Given the description of an element on the screen output the (x, y) to click on. 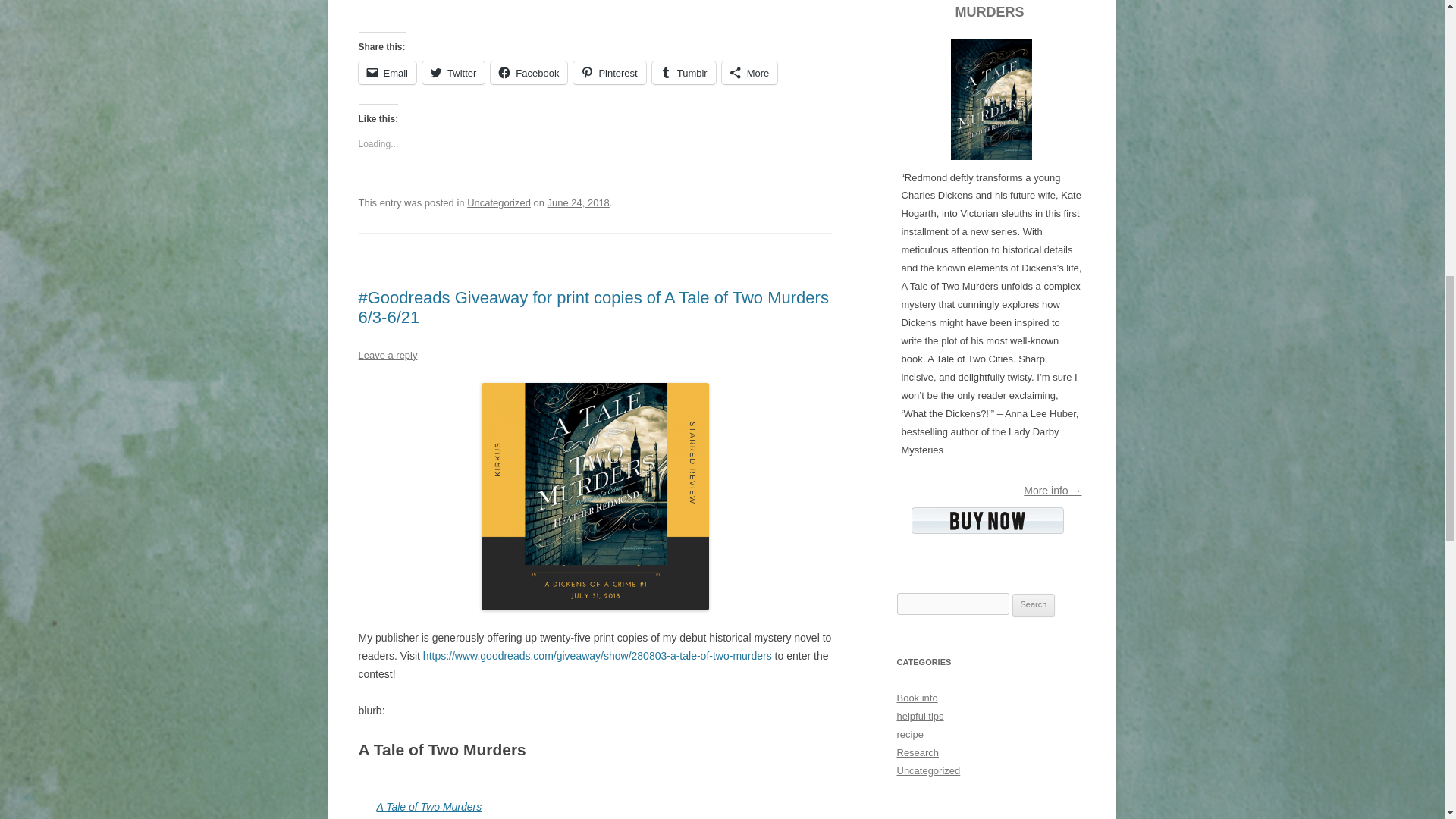
Email (387, 72)
Facebook (528, 72)
A Tale of Two Murders (428, 806)
Tumblr (684, 72)
June 24, 2018 (578, 202)
Click to share on Tumblr (684, 72)
Click to share on Pinterest (609, 72)
Click to email a link to a friend (387, 72)
Search (1033, 604)
Leave a reply (387, 355)
